Given the description of an element on the screen output the (x, y) to click on. 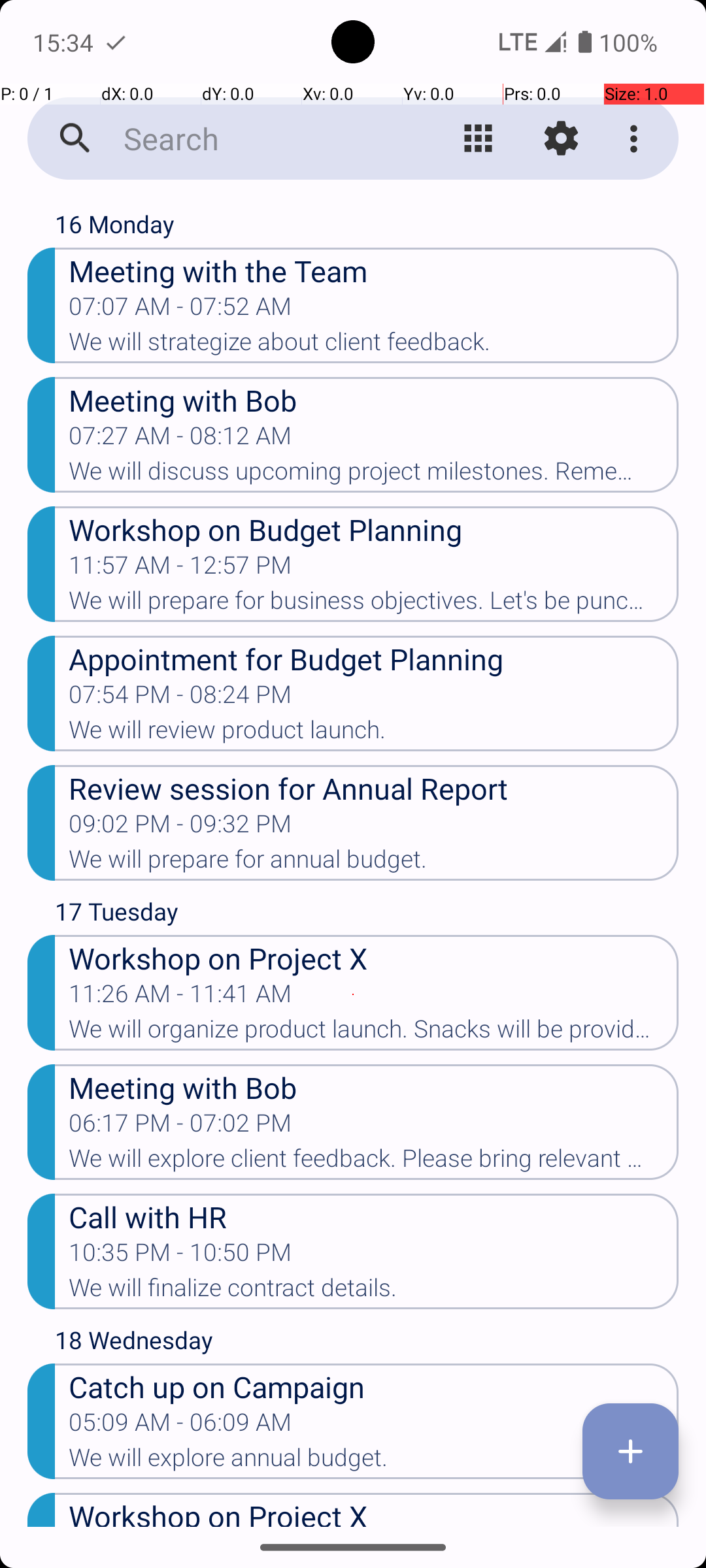
07:07 AM - 07:52 AM Element type: android.widget.TextView (179, 309)
We will strategize about client feedback. Element type: android.widget.TextView (373, 345)
07:27 AM - 08:12 AM Element type: android.widget.TextView (179, 439)
We will discuss upcoming project milestones. Remember to confirm attendance. Element type: android.widget.TextView (373, 474)
11:57 AM - 12:57 PM Element type: android.widget.TextView (179, 568)
We will prepare for business objectives. Let's be punctual. Element type: android.widget.TextView (373, 603)
07:54 PM - 08:24 PM Element type: android.widget.TextView (179, 698)
We will review product launch. Element type: android.widget.TextView (373, 733)
09:02 PM - 09:32 PM Element type: android.widget.TextView (179, 827)
We will prepare for annual budget. Element type: android.widget.TextView (373, 862)
11:26 AM - 11:41 AM Element type: android.widget.TextView (179, 997)
We will organize product launch. Snacks will be provided. Element type: android.widget.TextView (373, 1032)
06:17 PM - 07:02 PM Element type: android.widget.TextView (179, 1126)
We will explore client feedback. Please bring relevant documents. Element type: android.widget.TextView (373, 1161)
10:35 PM - 10:50 PM Element type: android.widget.TextView (179, 1256)
We will finalize contract details. Element type: android.widget.TextView (373, 1291)
05:09 AM - 06:09 AM Element type: android.widget.TextView (179, 1425)
We will explore annual budget. Element type: android.widget.TextView (373, 1461)
